Given the description of an element on the screen output the (x, y) to click on. 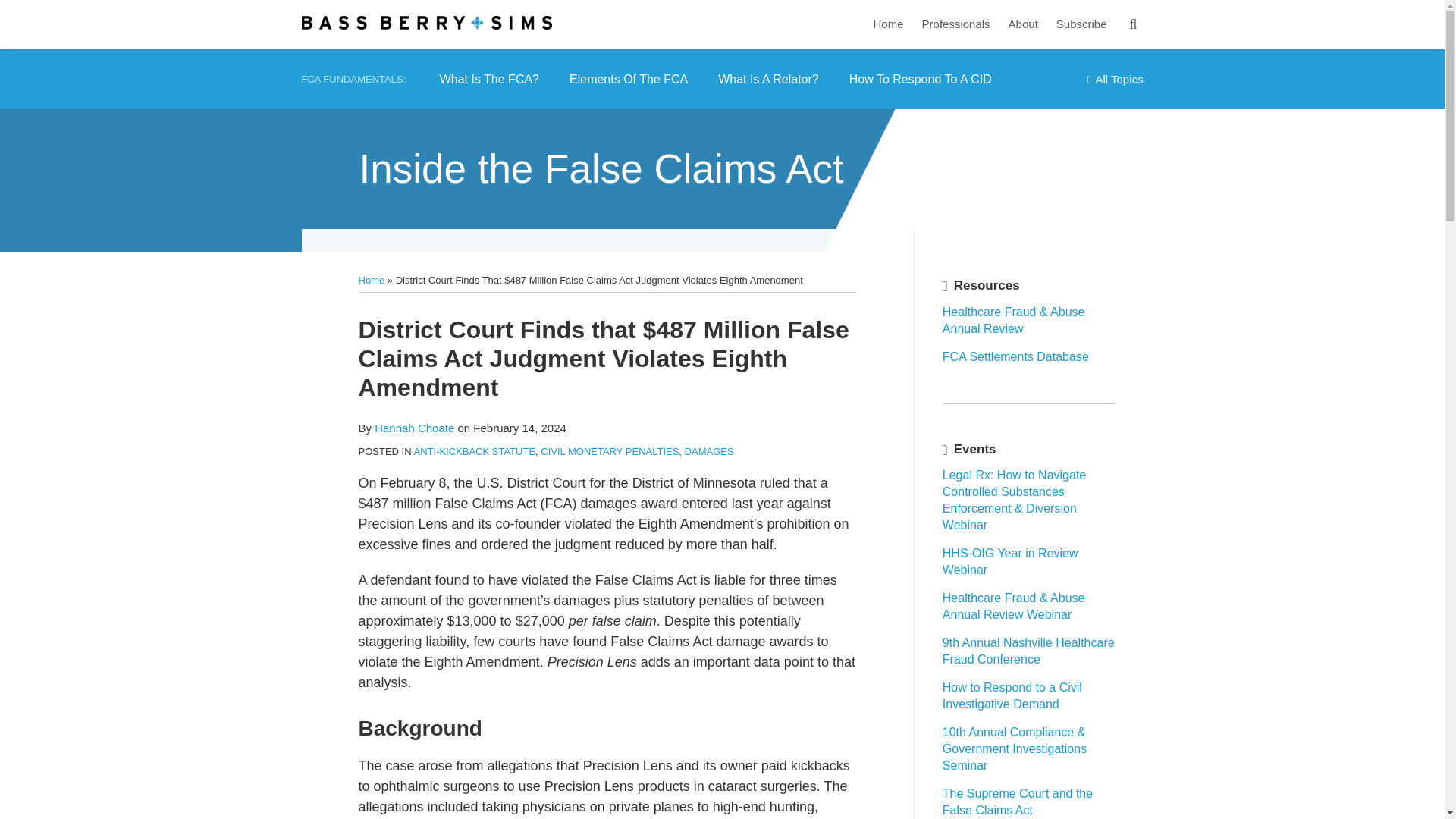
FCA Settlements Database (1015, 356)
Inside the False Claims Act (601, 168)
DAMAGES (708, 451)
Home (888, 24)
Professionals (955, 24)
What Is A Relator? (767, 79)
Elements Of The FCA (628, 79)
Hannah Choate (414, 427)
Subscribe (1081, 24)
What Is The FCA? (488, 79)
Home (371, 279)
ANTI-KICKBACK STATUTE (474, 451)
CIVIL MONETARY PENALTIES (609, 451)
How To Respond To A CID (919, 79)
All Topics (1114, 79)
